Given the description of an element on the screen output the (x, y) to click on. 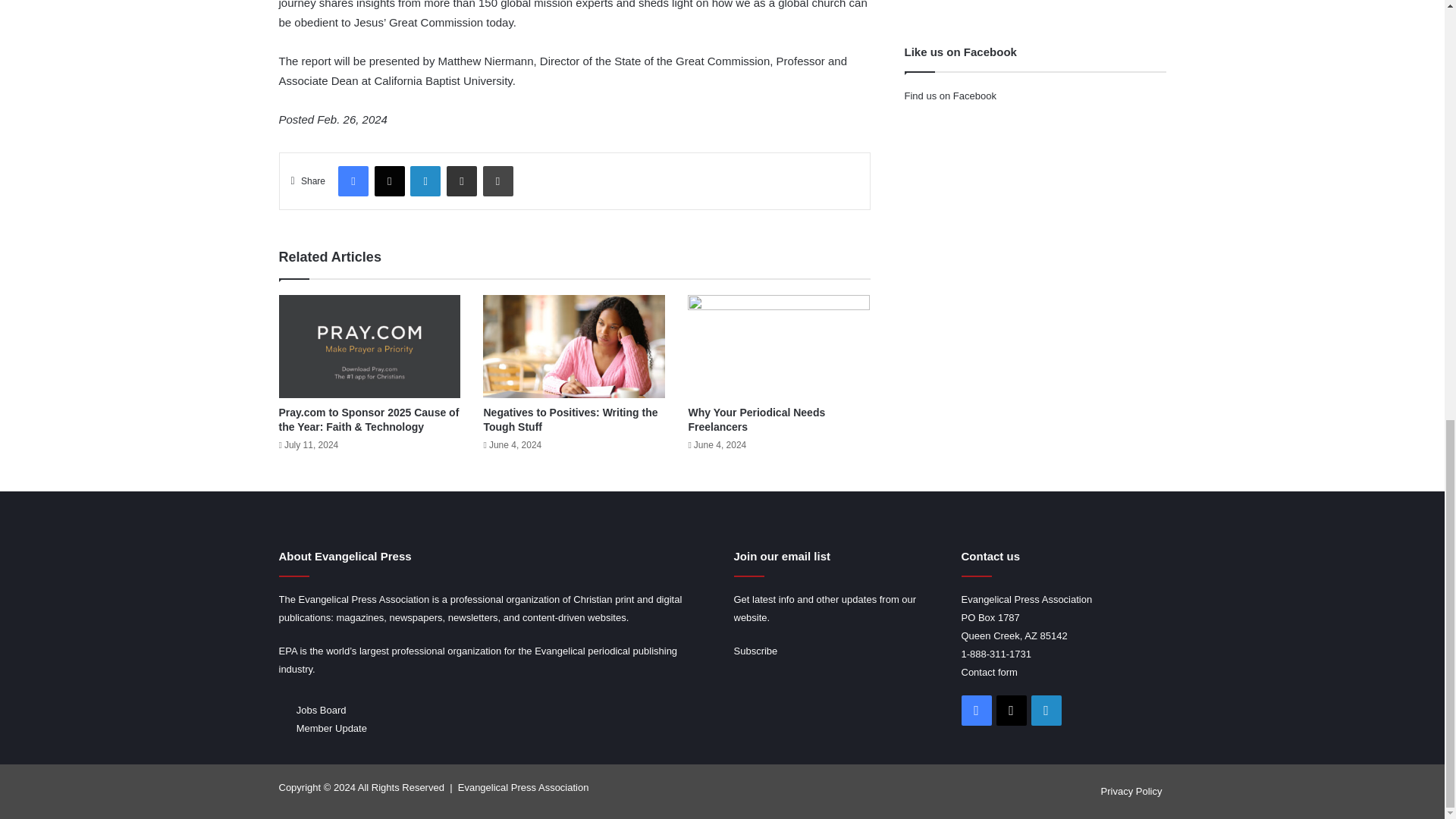
LinkedIn (425, 181)
Print (496, 181)
Facebook (352, 181)
X (389, 181)
Share via Email (461, 181)
